Given the description of an element on the screen output the (x, y) to click on. 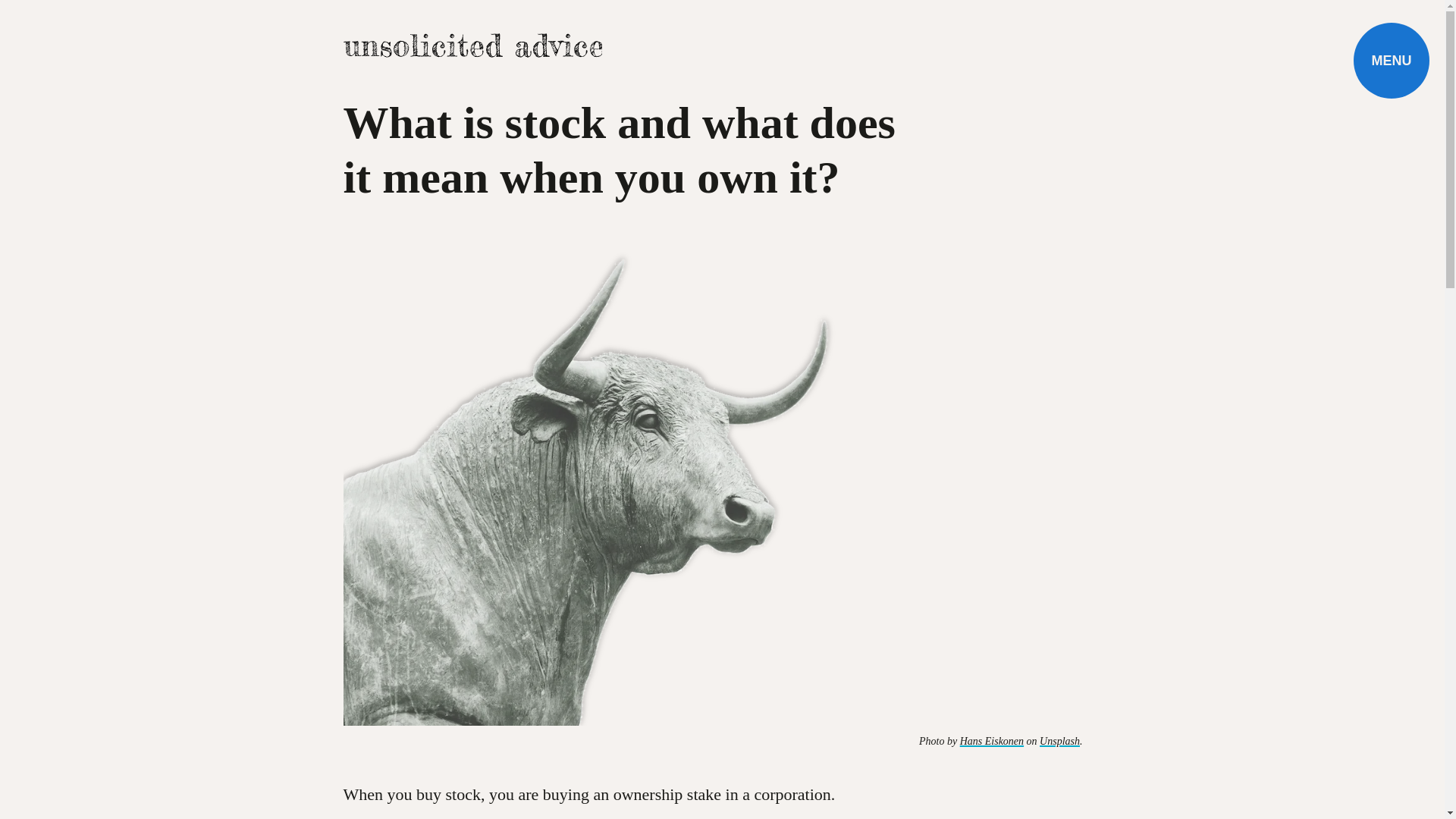
MENU (1391, 60)
Hans Eiskonen (991, 740)
Unsplash (1059, 740)
